Given the description of an element on the screen output the (x, y) to click on. 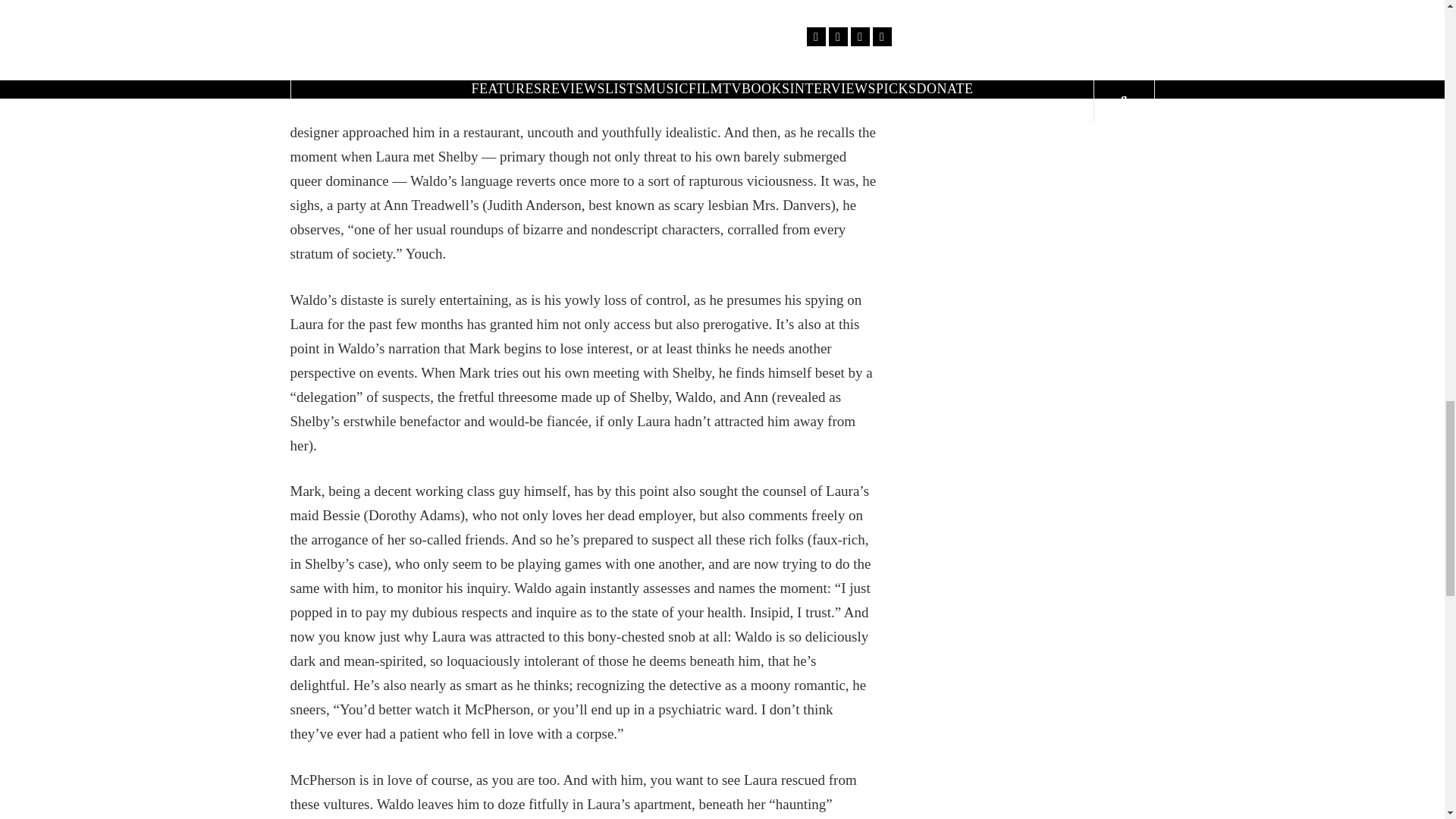
PopMatters Staff (1055, 24)
